Given the description of an element on the screen output the (x, y) to click on. 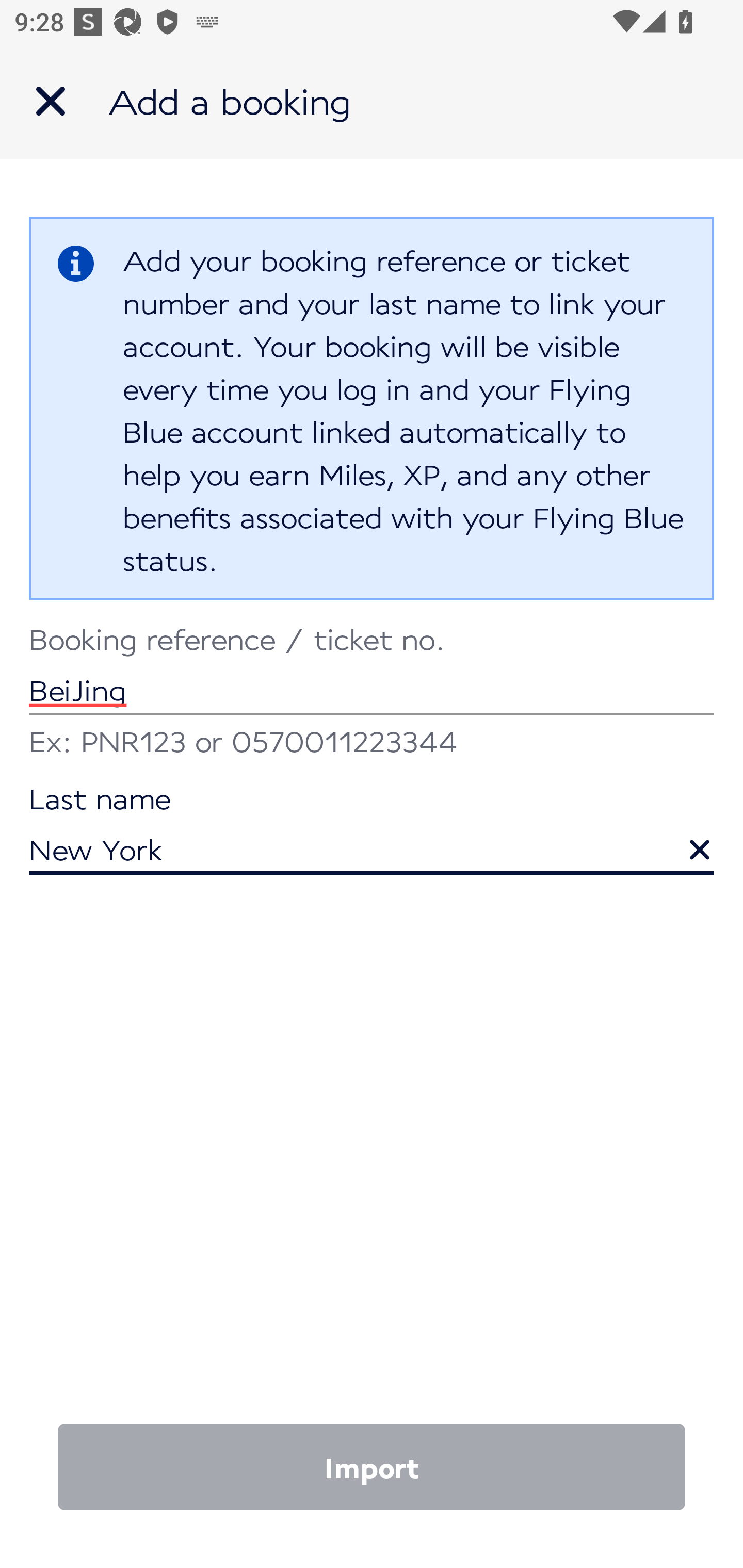
BeiJing Ex: PNR123 or 0570011223344 (371, 693)
BeiJing (371, 671)
New York Clear text (371, 831)
Clear text (685, 839)
Import (371, 1466)
